Given the description of an element on the screen output the (x, y) to click on. 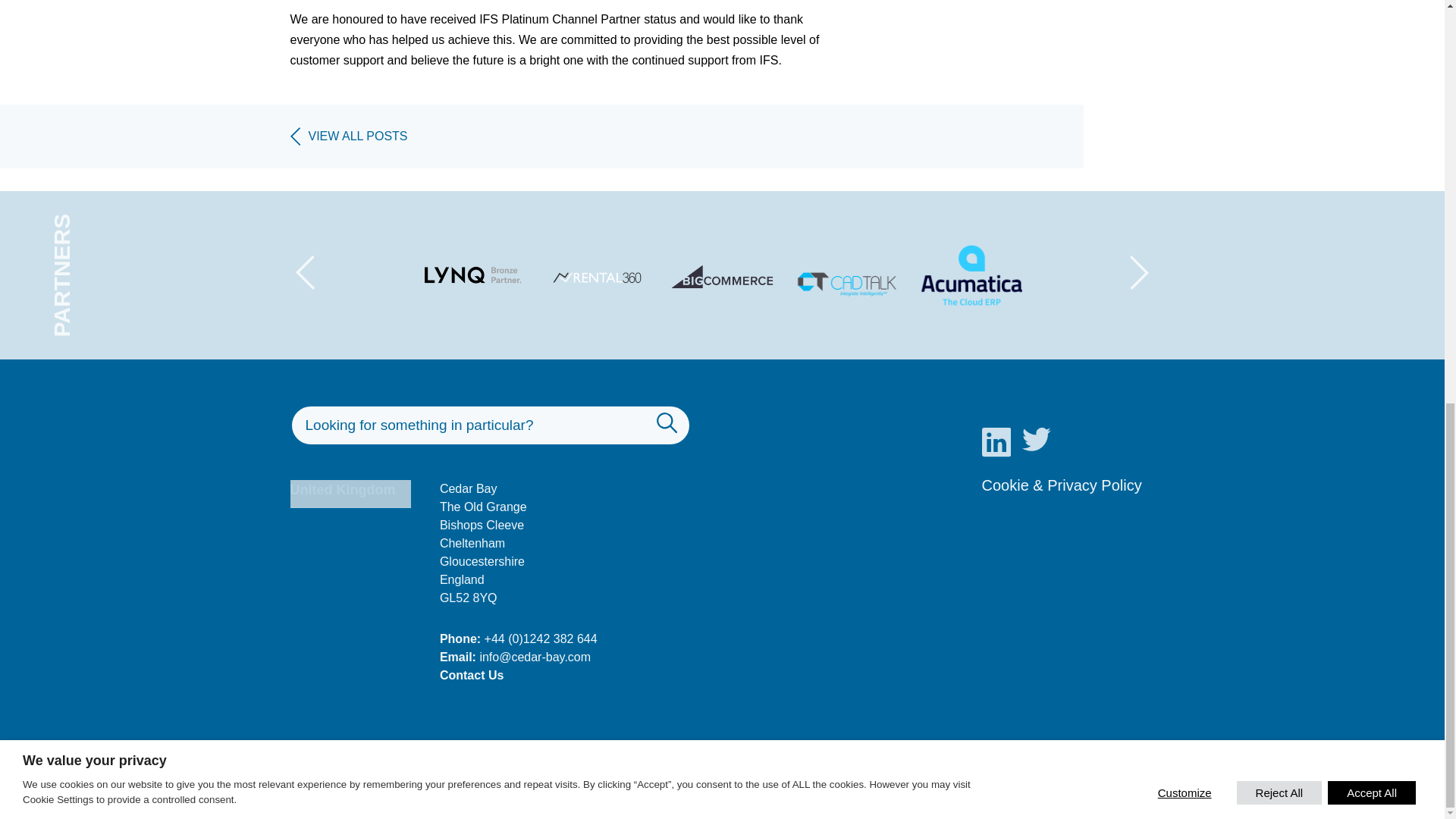
Lynq Logo (473, 265)
Rental 360 Logo (598, 265)
Big Commerce Logo (722, 265)
Cad Talk Logo Image (847, 269)
